Given the description of an element on the screen output the (x, y) to click on. 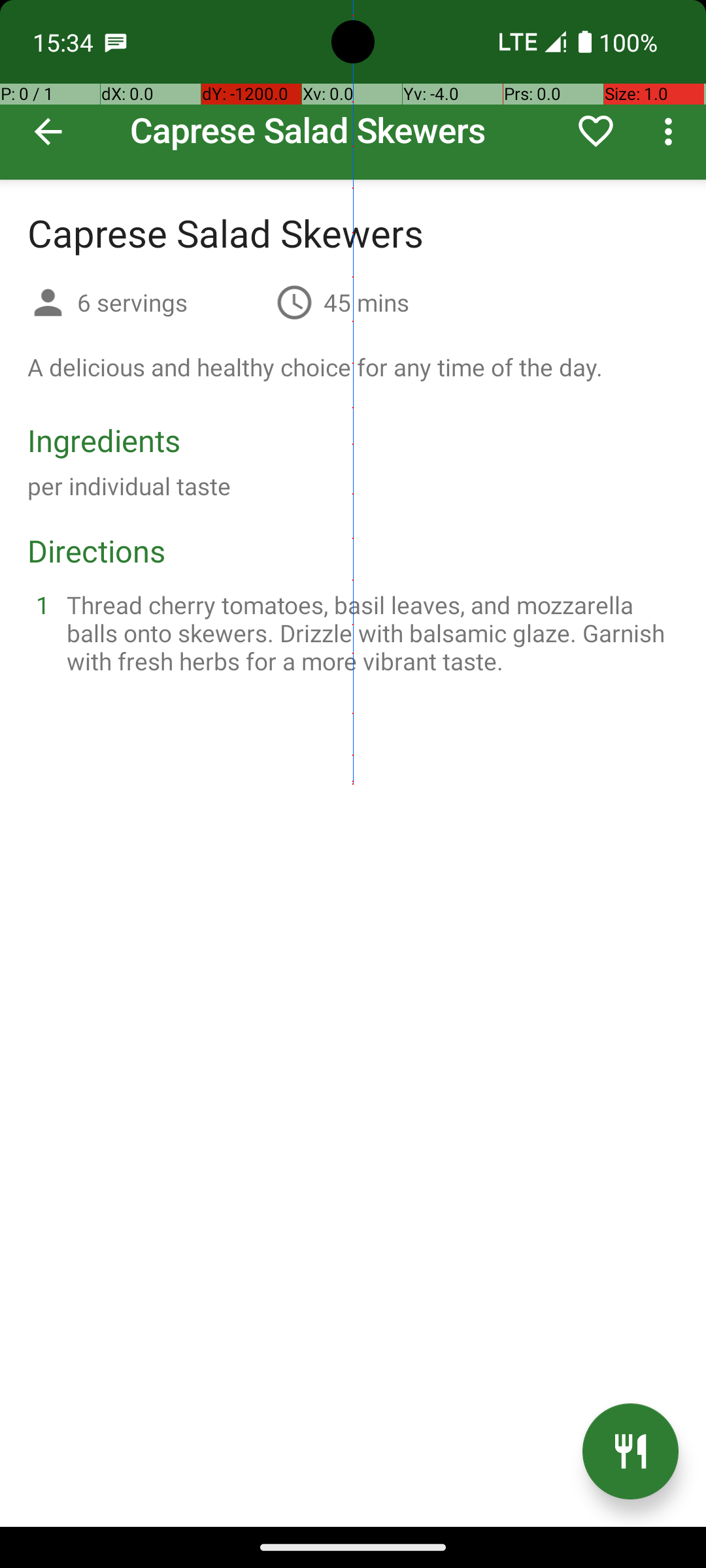
Thread cherry tomatoes, basil leaves, and mozzarella balls onto skewers. Drizzle with balsamic glaze. Garnish with fresh herbs for a more vibrant taste. Element type: android.widget.TextView (368, 632)
